Given the description of an element on the screen output the (x, y) to click on. 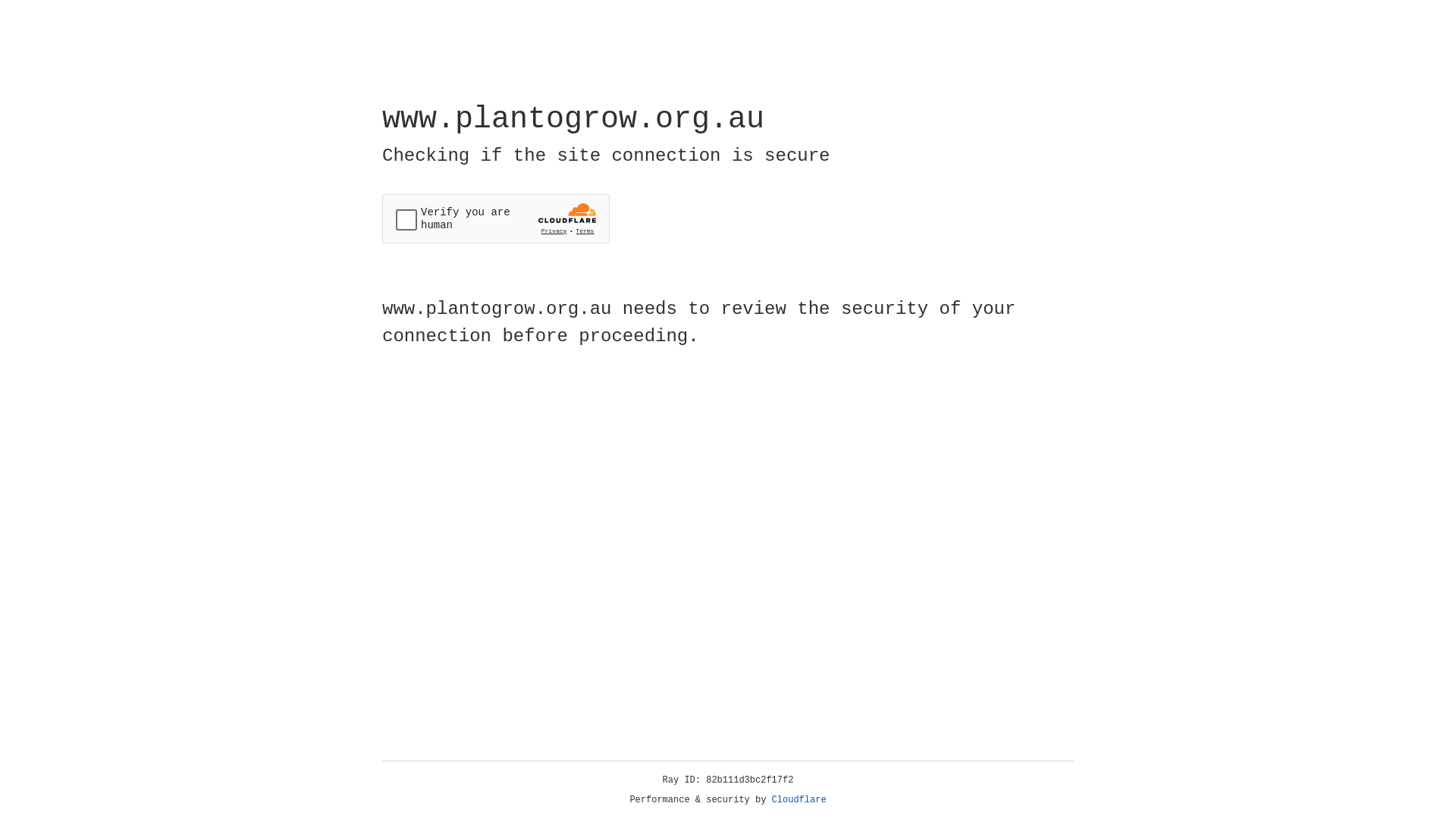
Widget containing a Cloudflare security challenge Element type: hover (495, 218)
Cloudflare Element type: text (798, 799)
